Given the description of an element on the screen output the (x, y) to click on. 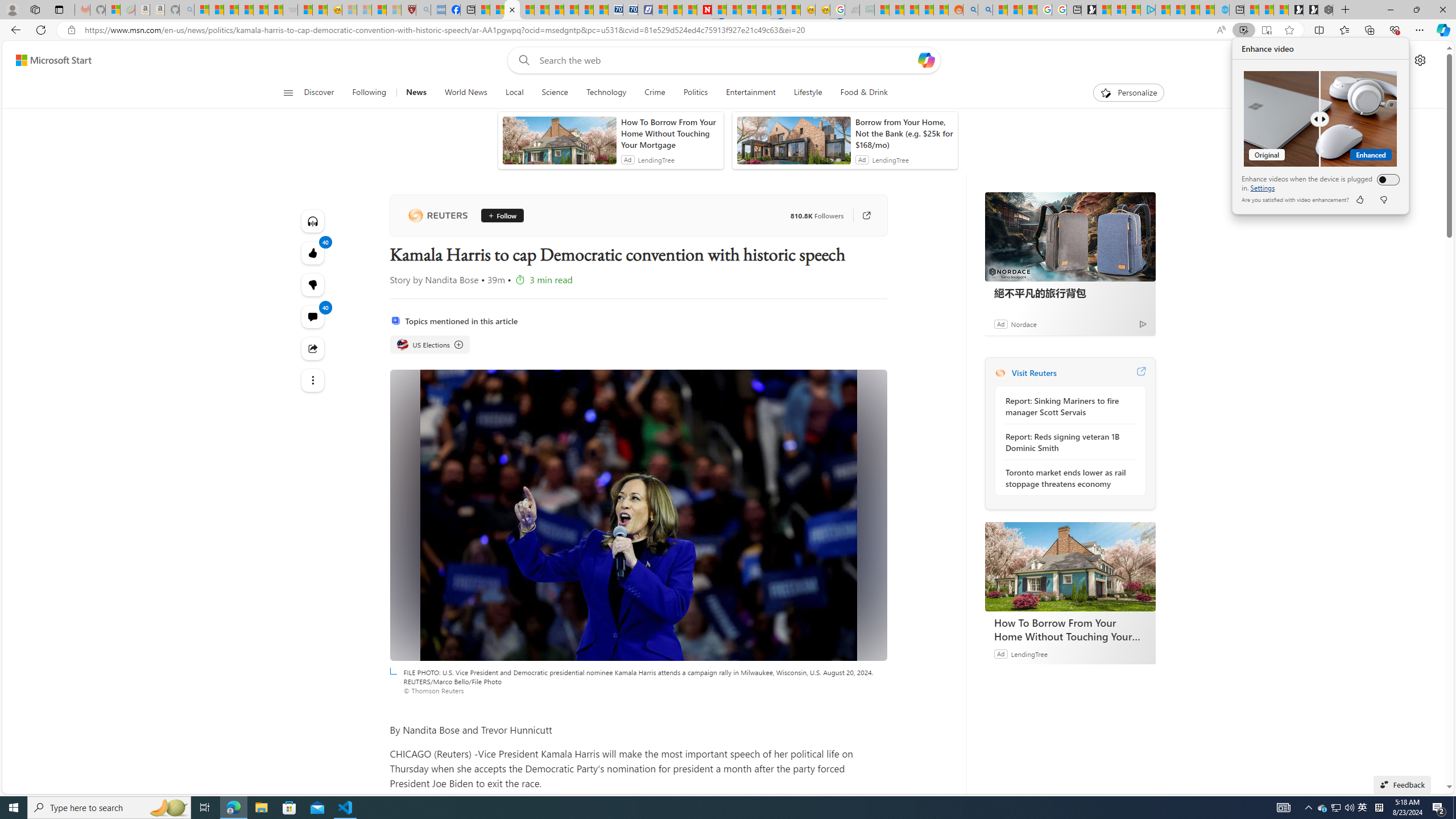
Running applications (700, 807)
